Given the description of an element on the screen output the (x, y) to click on. 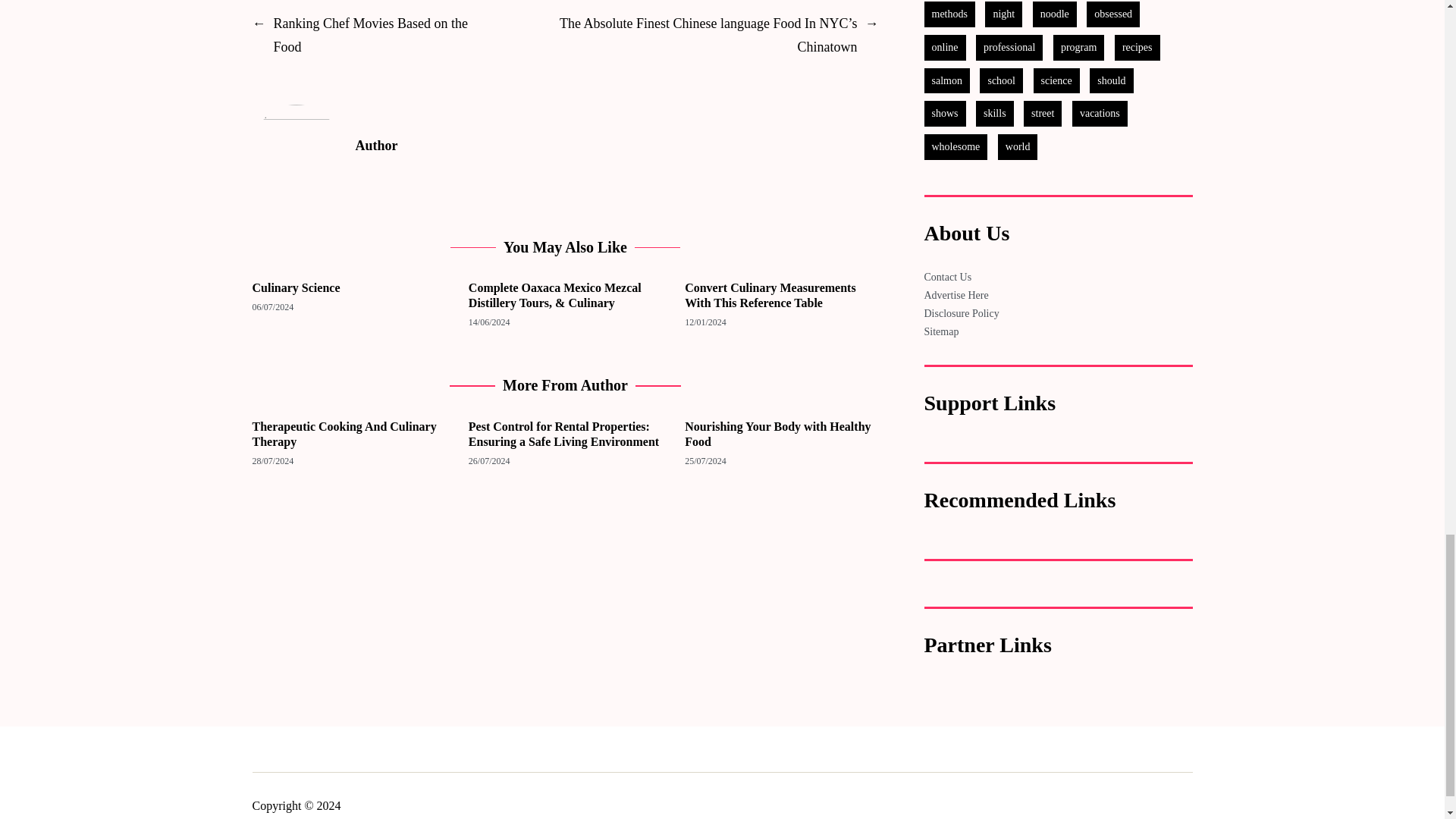
Author (616, 146)
Author (295, 148)
